Given the description of an element on the screen output the (x, y) to click on. 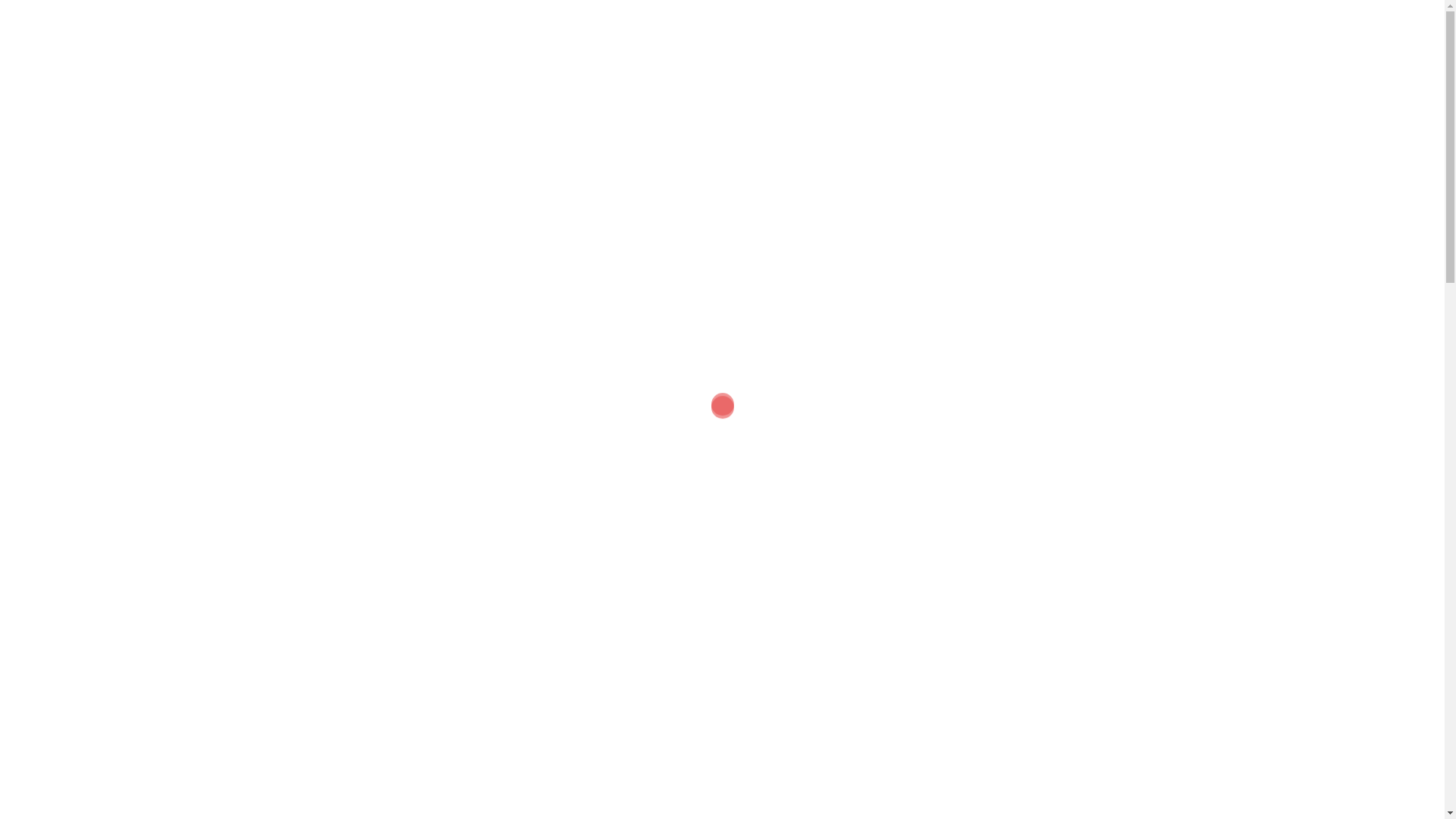
EVENTS Element type: text (978, 71)
REGISTRATION Element type: text (890, 71)
Speed dating Melbourne Element type: text (365, 43)
BLOG Element type: text (1129, 71)
HOME Element type: text (620, 71)
ABOUT US Element type: text (686, 71)
SPEED DATING Element type: text (780, 71)
CONTACT US Element type: text (1058, 71)
